Given the description of an element on the screen output the (x, y) to click on. 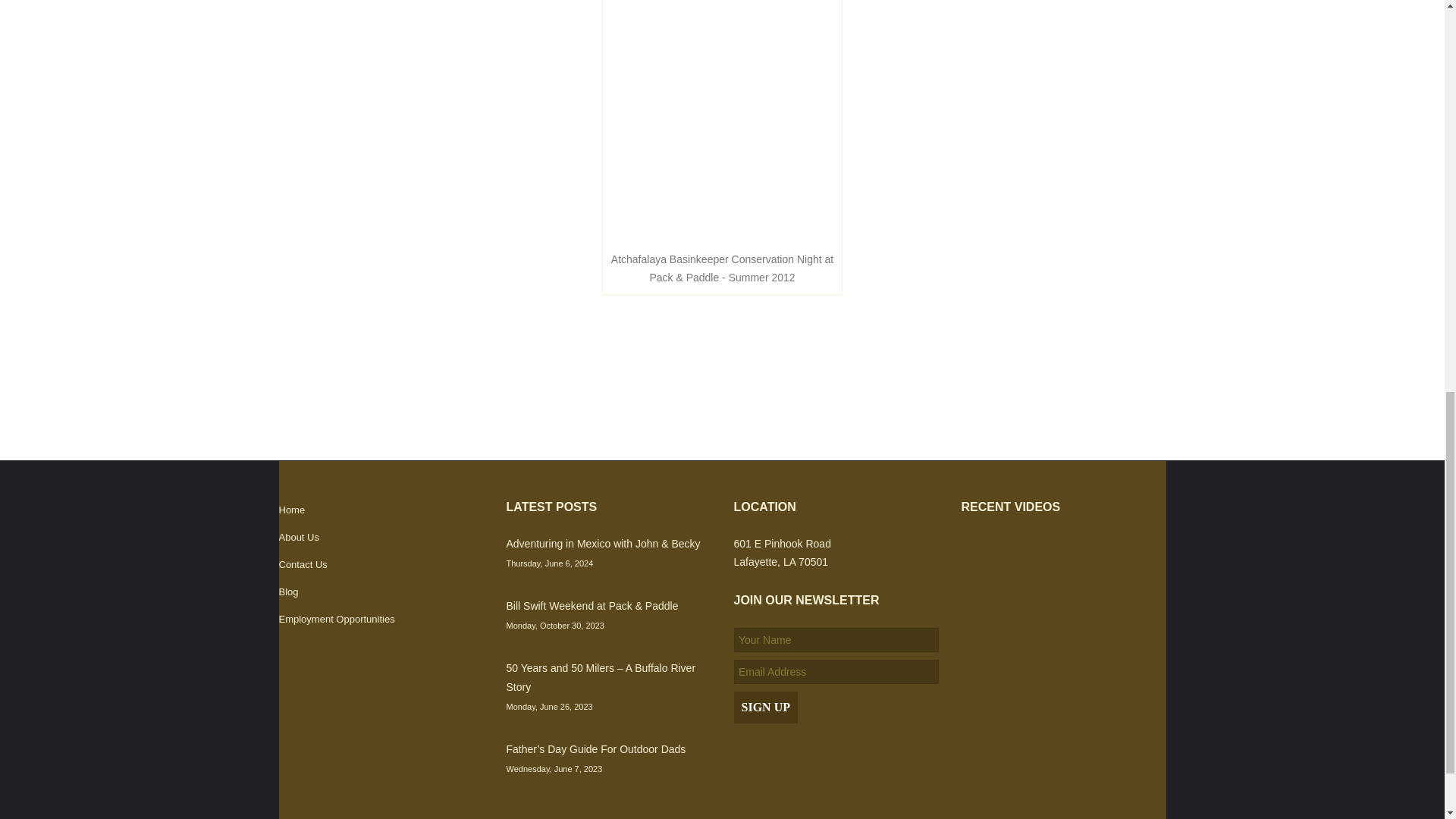
Sign up (765, 707)
basinkeeper-cons-night (721, 121)
